Given the description of an element on the screen output the (x, y) to click on. 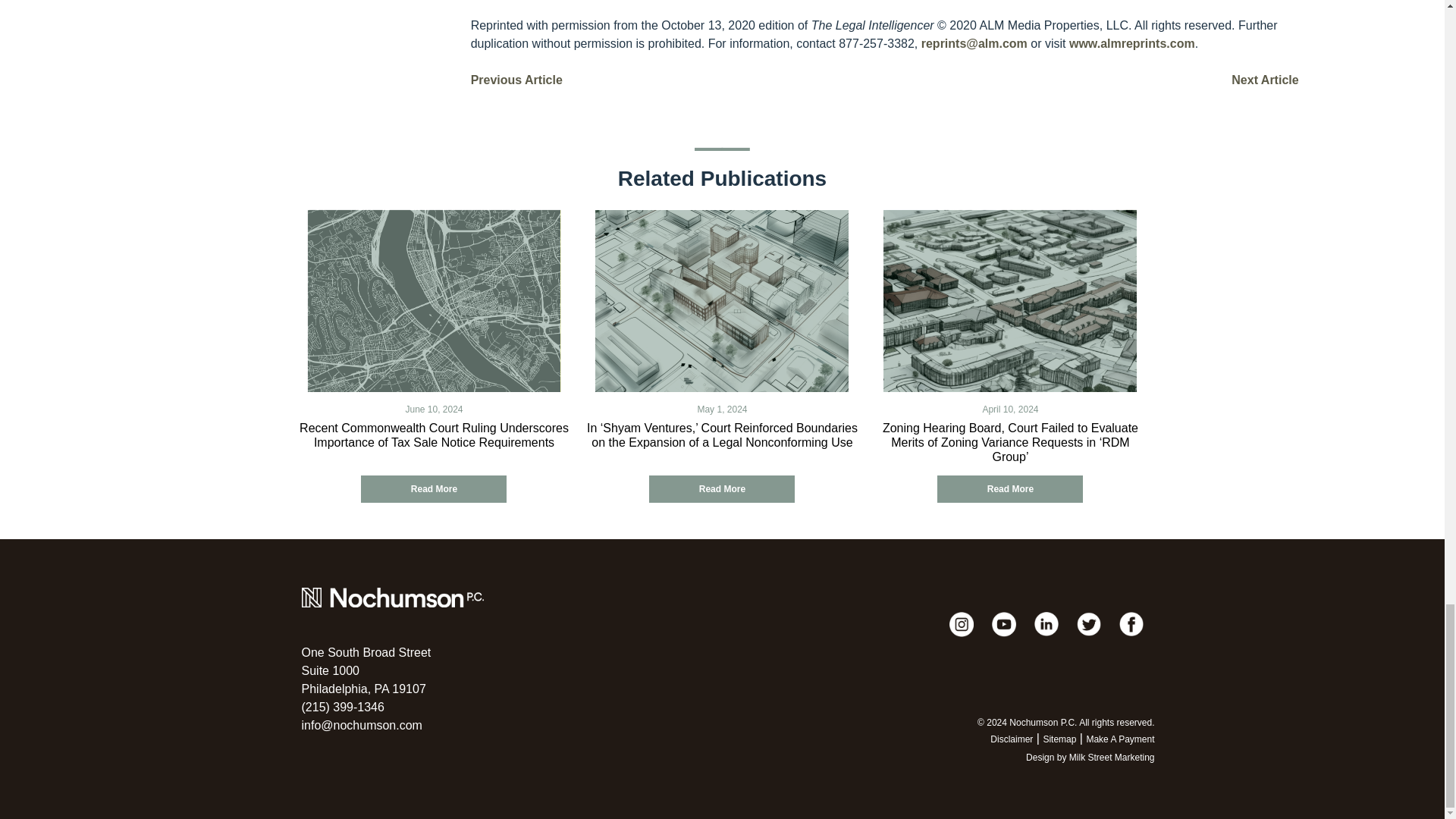
Read More (721, 488)
Read More (1010, 488)
Previous Article (516, 79)
Next Article (1264, 79)
Read More (365, 670)
www.almreprints.com (433, 488)
